Given the description of an element on the screen output the (x, y) to click on. 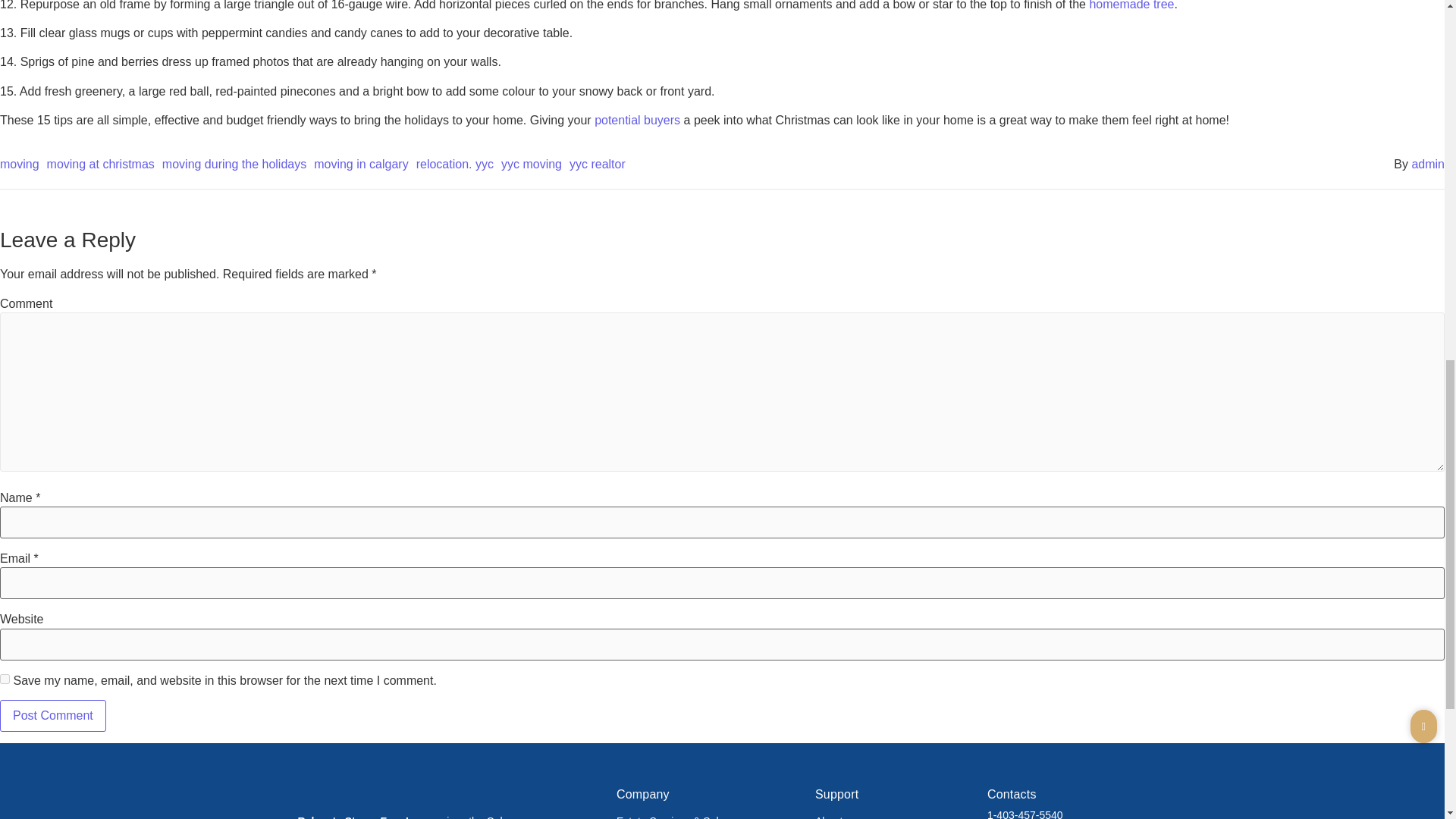
homemade tree (1131, 4)
Post Comment (53, 716)
yes (5, 678)
potential buyers (638, 119)
